Given the description of an element on the screen output the (x, y) to click on. 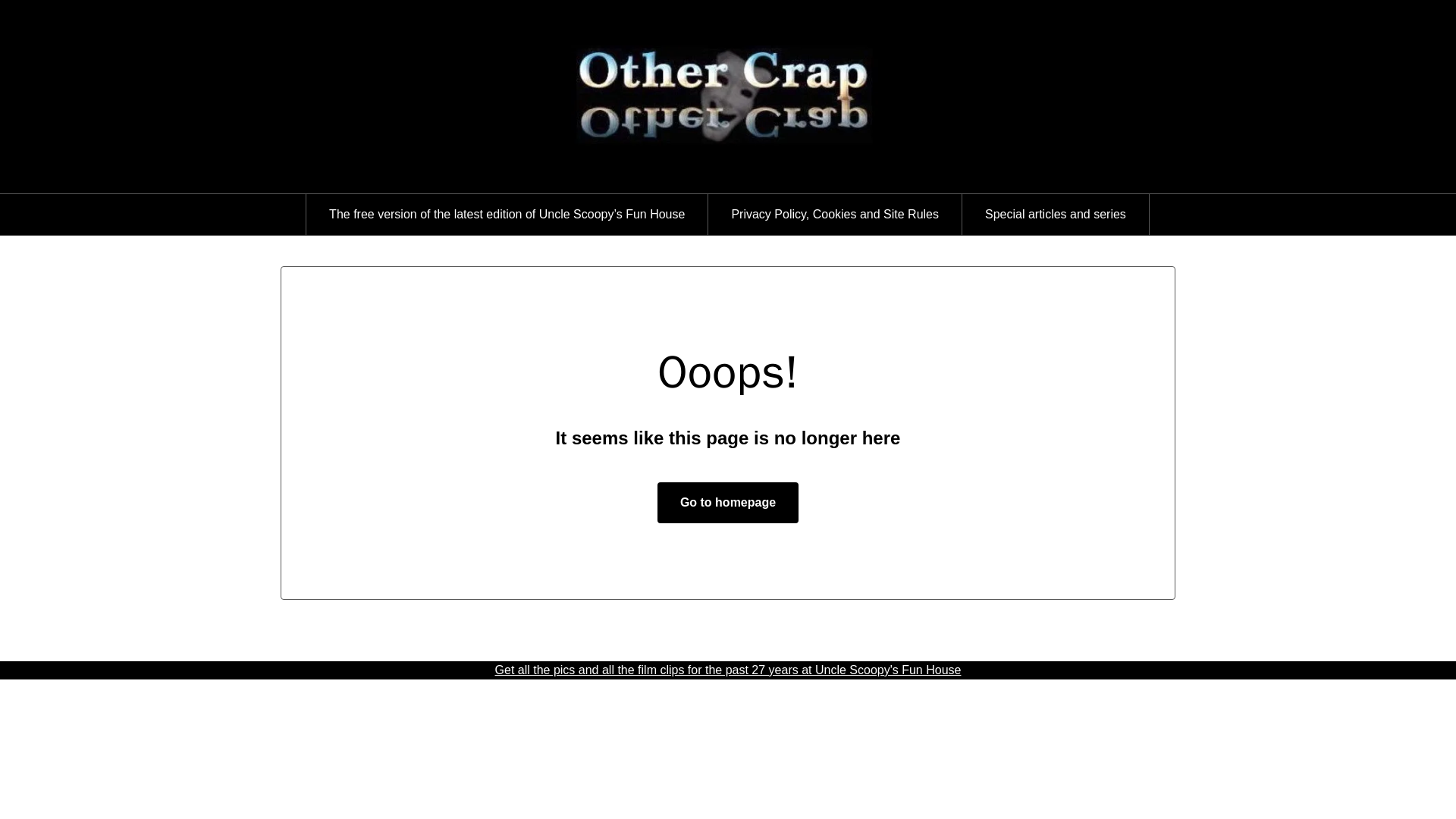
Special articles and series (1055, 214)
Privacy Policy, Cookies and Site Rules (833, 214)
Go to homepage (727, 502)
